Given the description of an element on the screen output the (x, y) to click on. 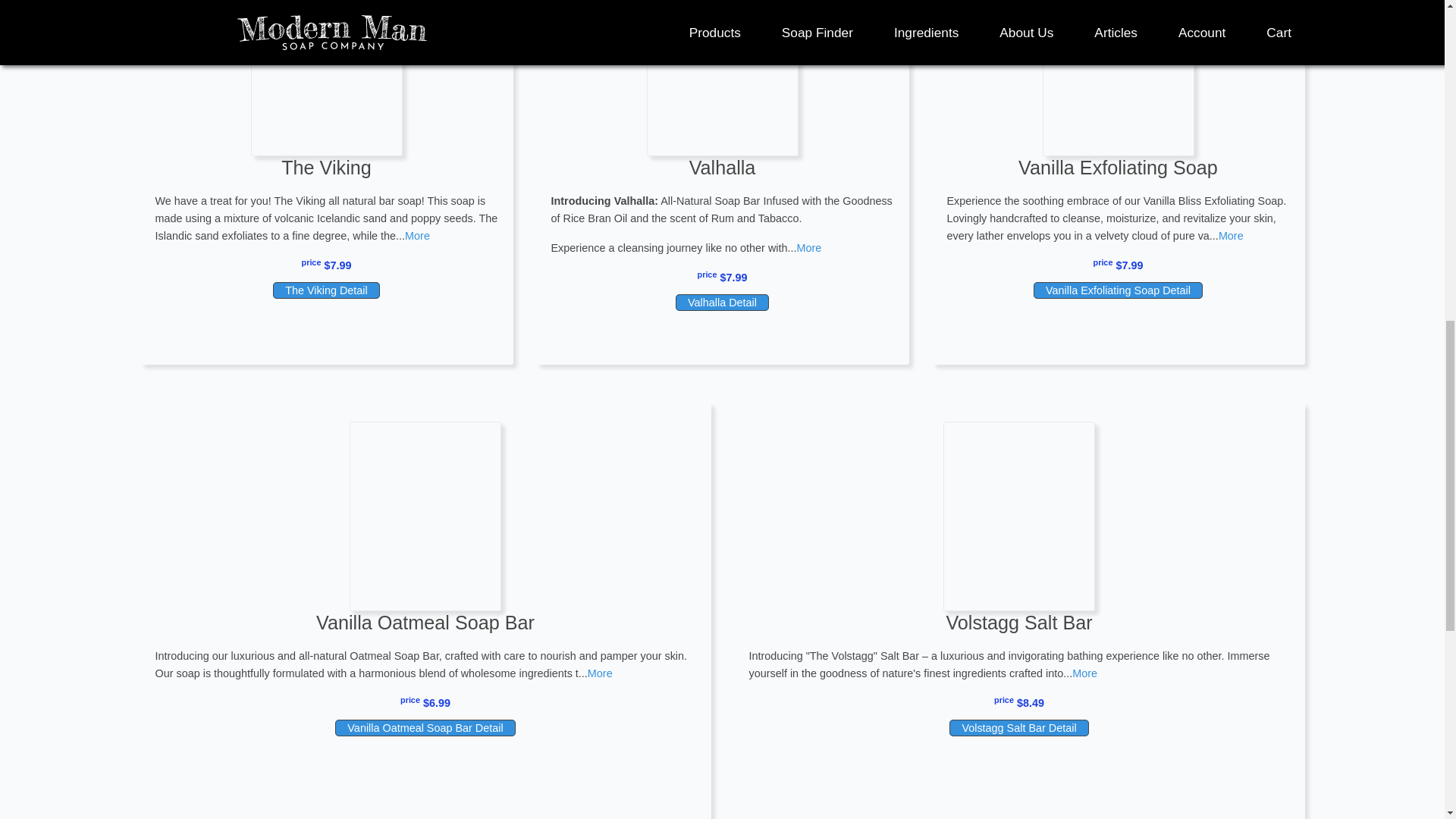
More (1084, 673)
Vanilla Exfoliating Soap Detail (1117, 289)
Valhalla Detail (721, 302)
Volstagg Salt Bar Detail (1018, 727)
More (1230, 235)
Vanilla Oatmeal Soap Bar Detail (424, 727)
The Viking Detail (326, 289)
More (416, 235)
More (808, 247)
More (600, 673)
